Given the description of an element on the screen output the (x, y) to click on. 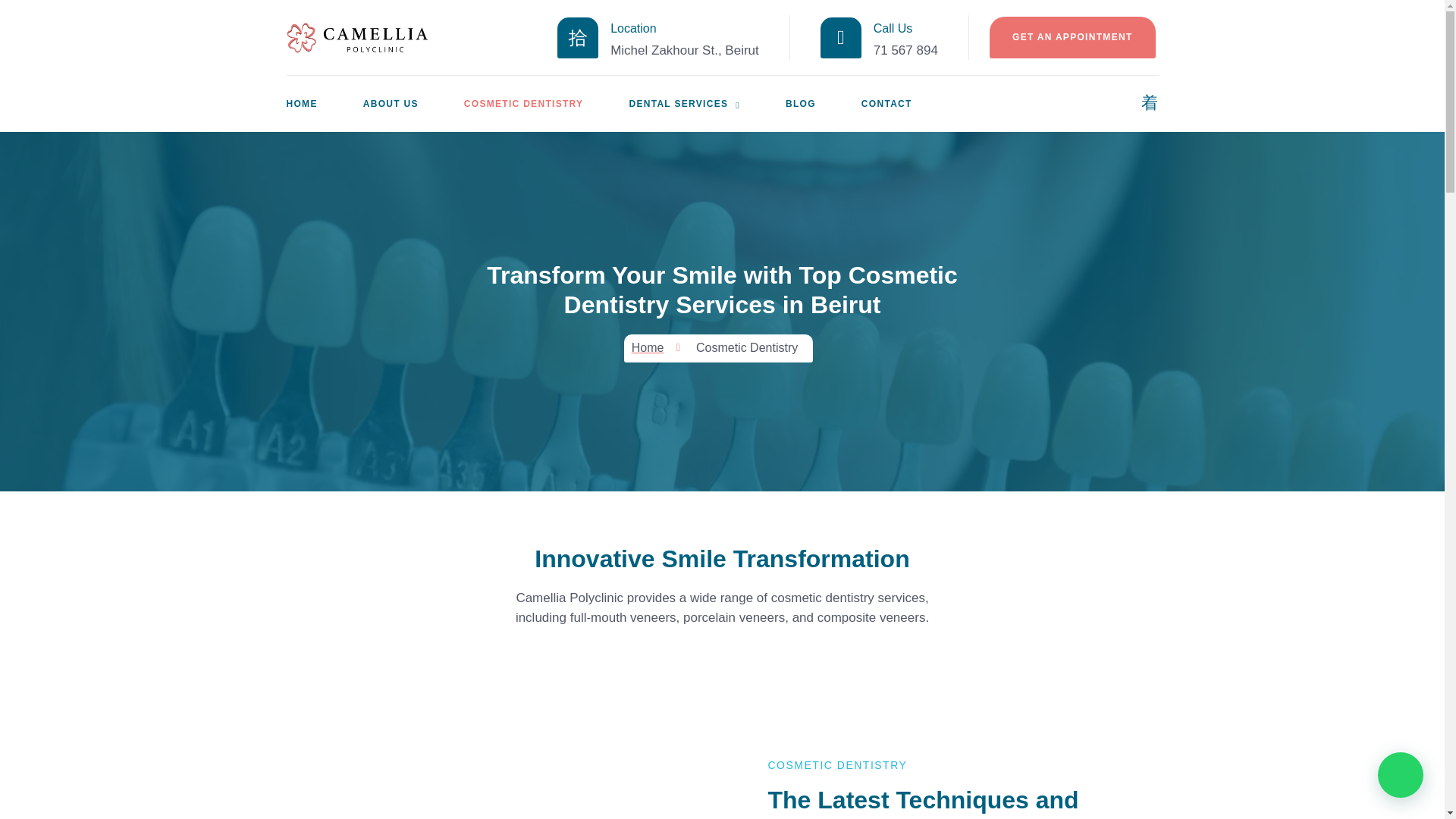
ABOUT US (413, 103)
HOME (324, 103)
Camellia Polyclinic logo (357, 37)
CONTACT (909, 103)
Call Us (892, 28)
DENTAL SERVICES (707, 103)
GET AN APPOINTMENT (1073, 37)
COSMETIC DENTISTRY (546, 103)
Location (633, 28)
BLOG (823, 103)
